Given the description of an element on the screen output the (x, y) to click on. 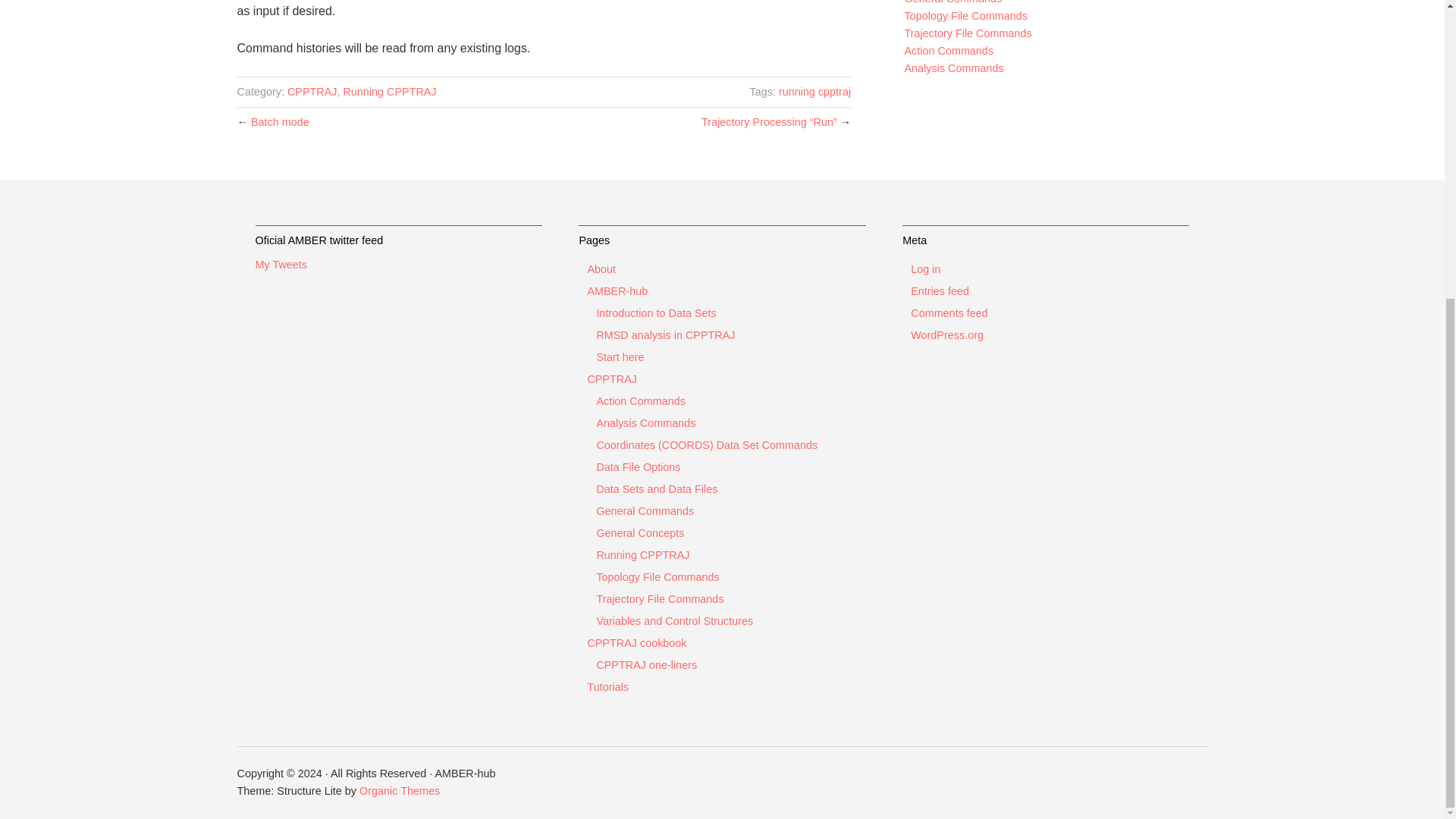
Analysis Commands (641, 423)
Introduction to Data Sets (652, 313)
My Tweets (280, 264)
General Commands (641, 511)
Data File Options (633, 466)
Batch mode (279, 121)
Analysis Commands (953, 68)
Trajectory File Commands (967, 33)
About (596, 268)
Action Commands (636, 401)
